Given the description of an element on the screen output the (x, y) to click on. 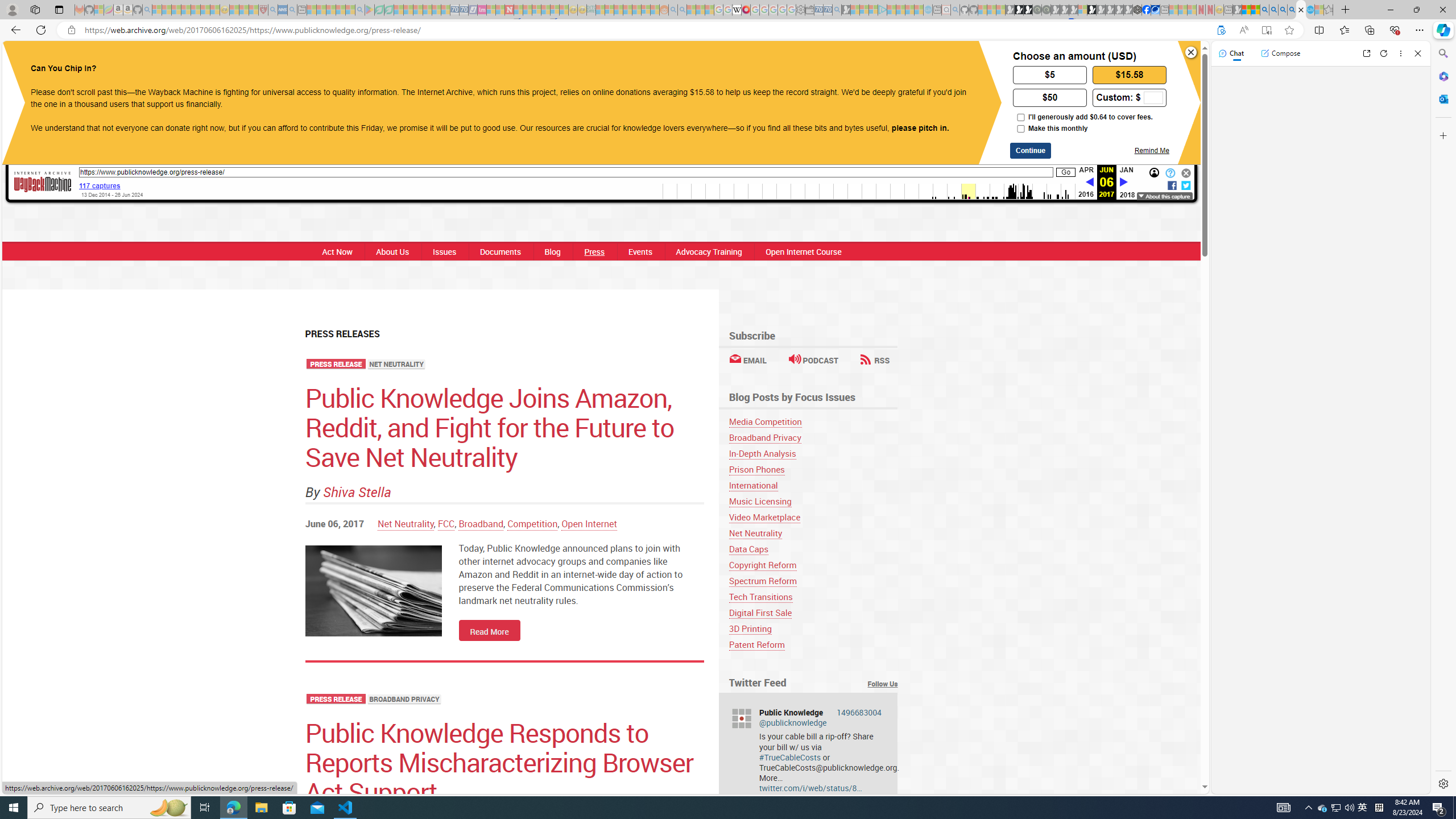
Previous capture (1088, 181)
Nordace - Cooler Bags (1137, 9)
2016 (1085, 194)
Tech Transitions (813, 596)
Open Internet Course (803, 251)
Blog (552, 251)
Documents (499, 251)
Make this monthly (1020, 128)
